Given the description of an element on the screen output the (x, y) to click on. 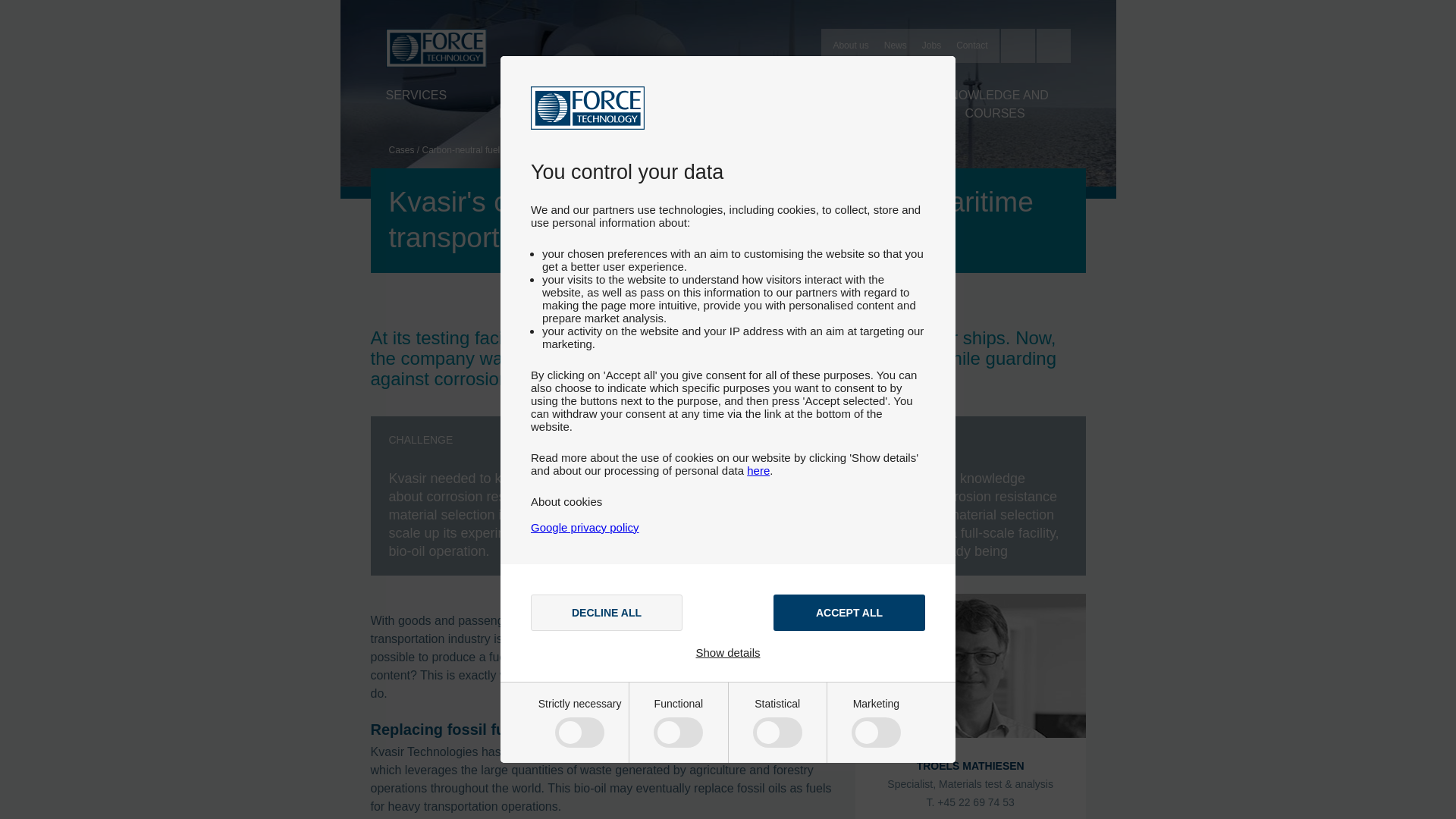
Show details (727, 652)
About cookies (566, 501)
ACCEPT ALL (848, 612)
DECLINE ALL (606, 612)
Google privacy policy (585, 526)
here (758, 470)
